Given the description of an element on the screen output the (x, y) to click on. 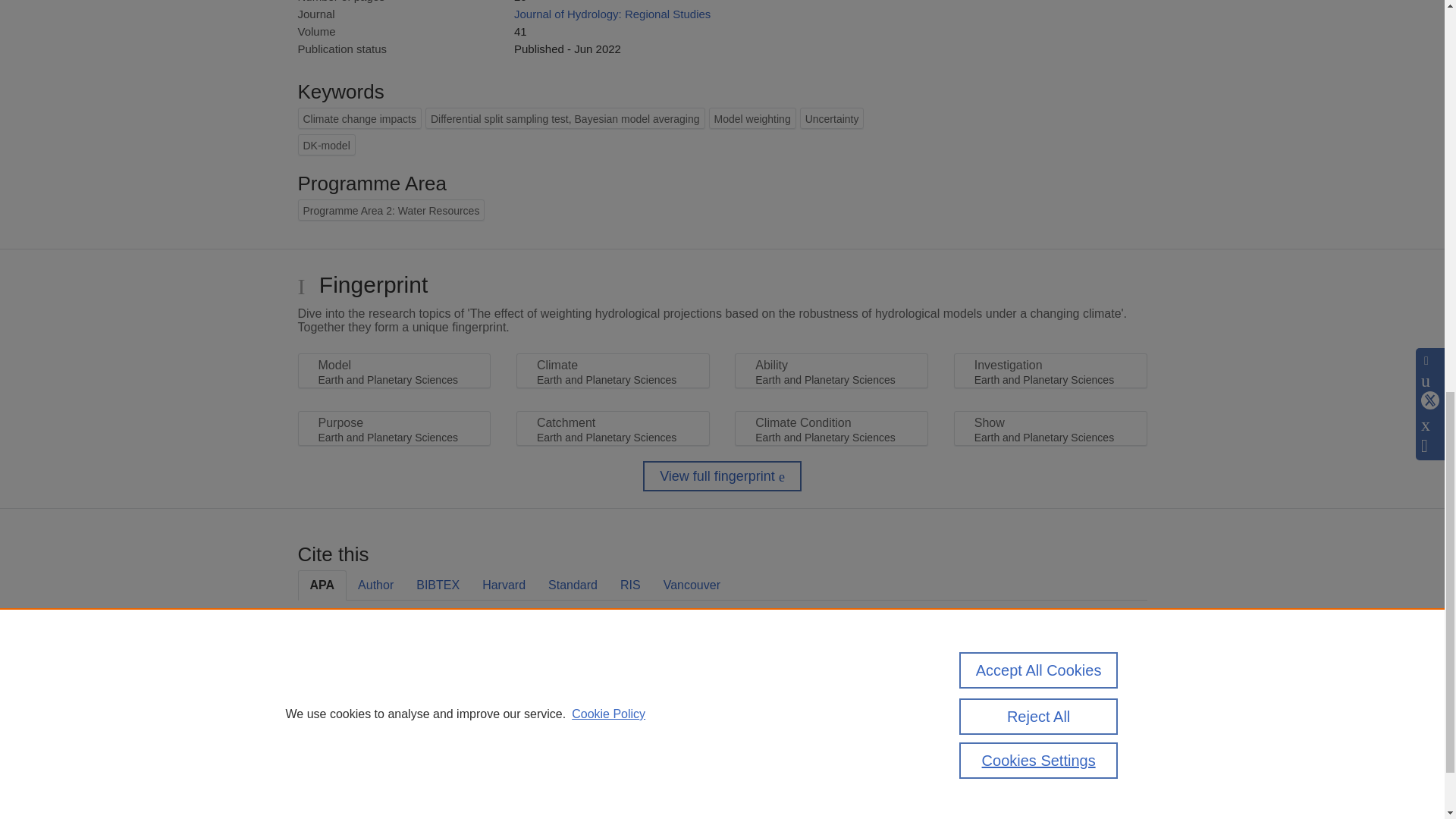
Journal of Hydrology: Regional Studies (611, 13)
Pure (468, 763)
View full fingerprint (722, 476)
